Given the description of an element on the screen output the (x, y) to click on. 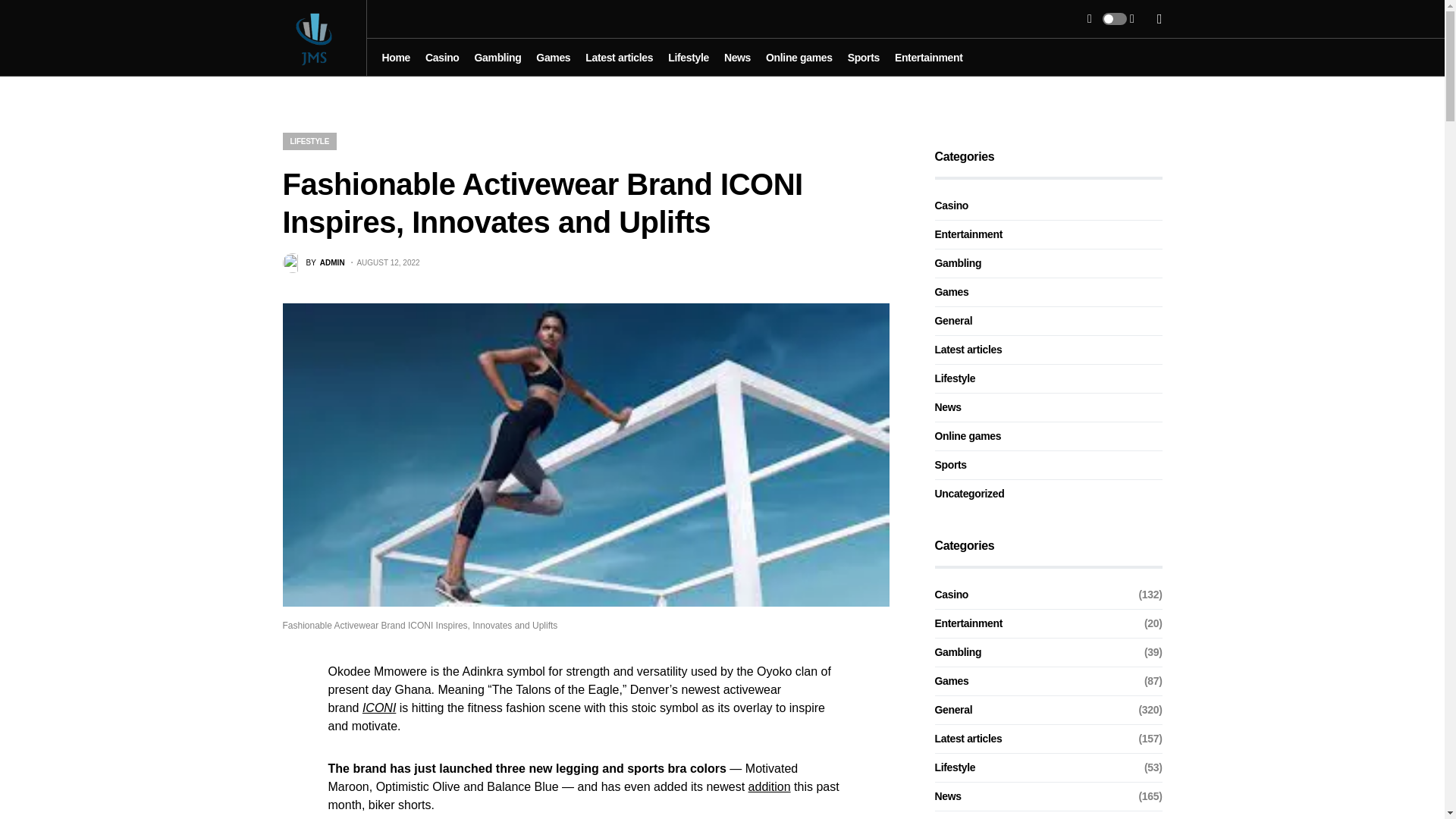
View all posts by admin (312, 262)
Online games (798, 57)
Lifestyle (688, 57)
Latest articles (618, 57)
Games (552, 57)
Entertainment (928, 57)
Casino (442, 57)
Gambling (497, 57)
